Given the description of an element on the screen output the (x, y) to click on. 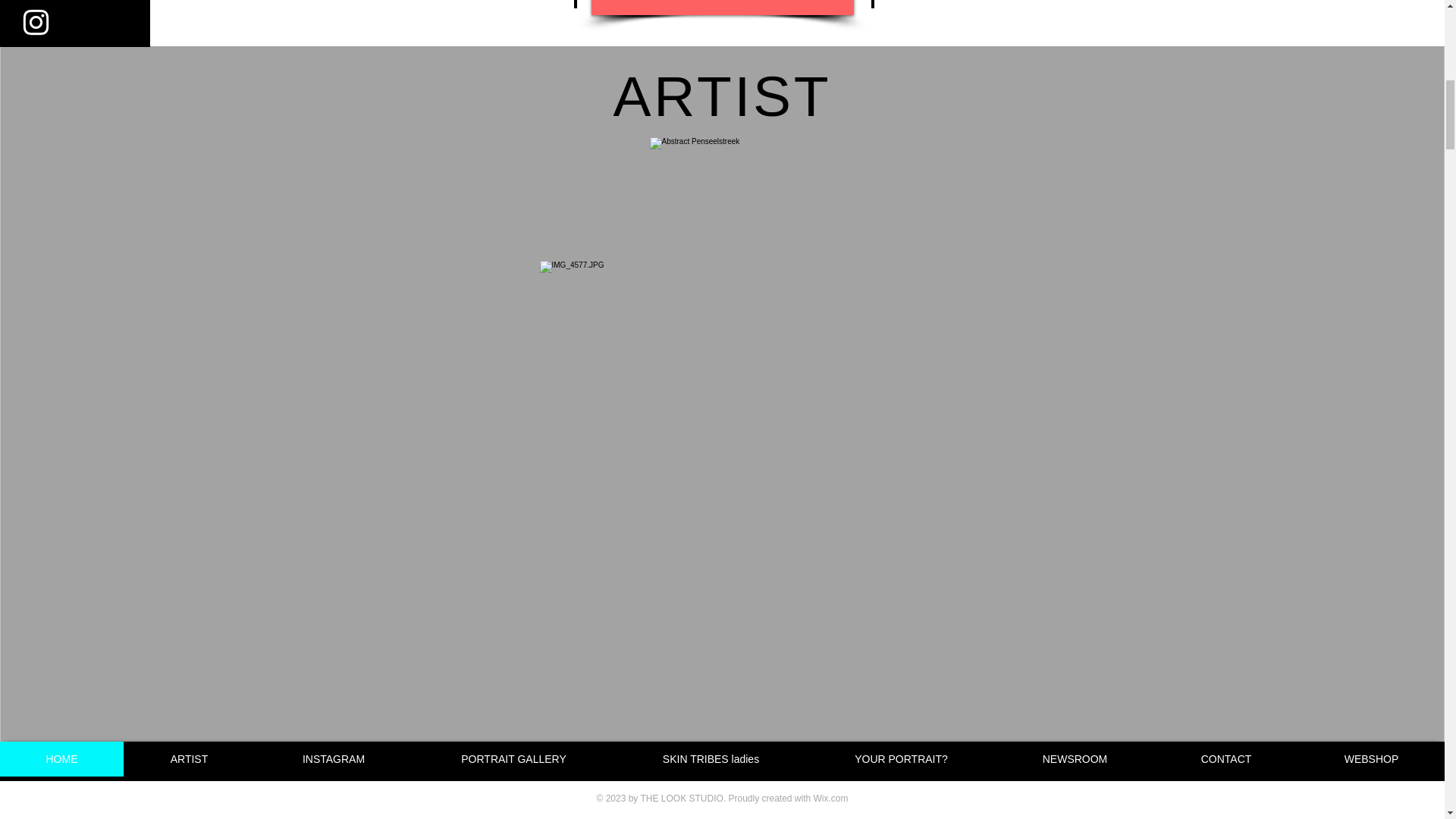
WEBSHOP (722, 7)
